Given the description of an element on the screen output the (x, y) to click on. 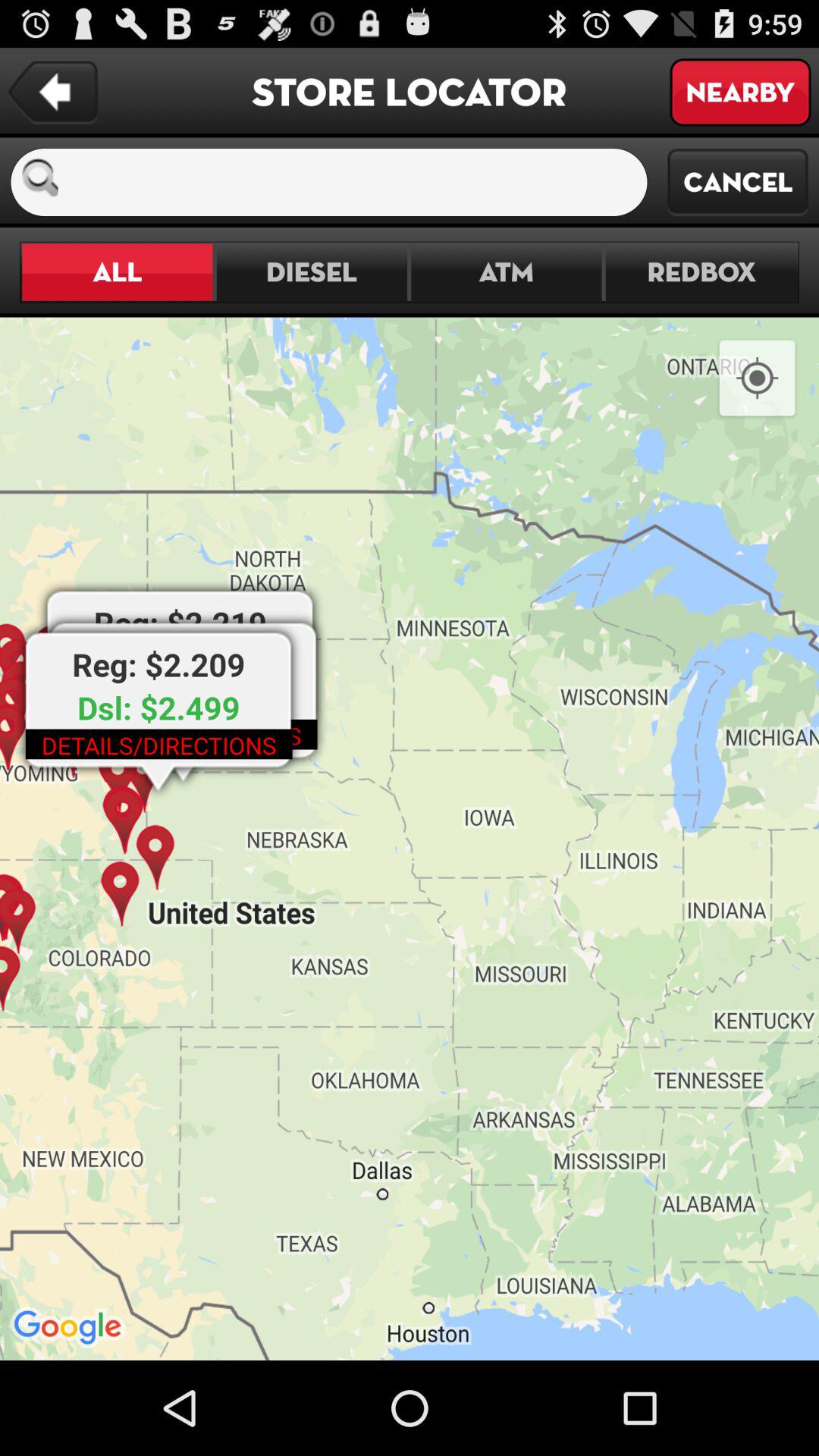
enter search box (358, 181)
